Given the description of an element on the screen output the (x, y) to click on. 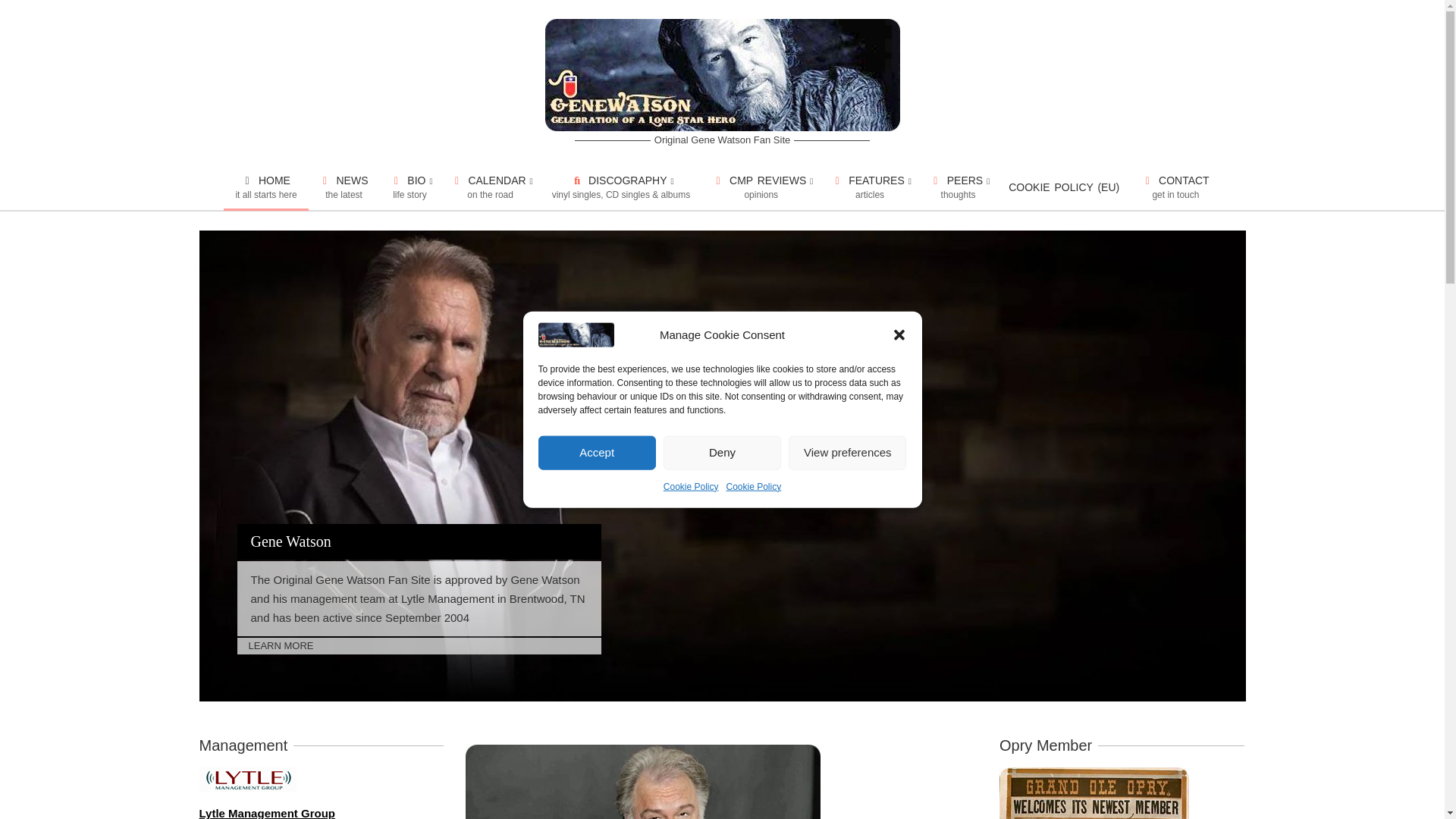
View preferences (847, 510)
Cookie Policy (265, 187)
Accept (753, 496)
Cookie Policy (597, 570)
Deny (490, 187)
